Given the description of an element on the screen output the (x, y) to click on. 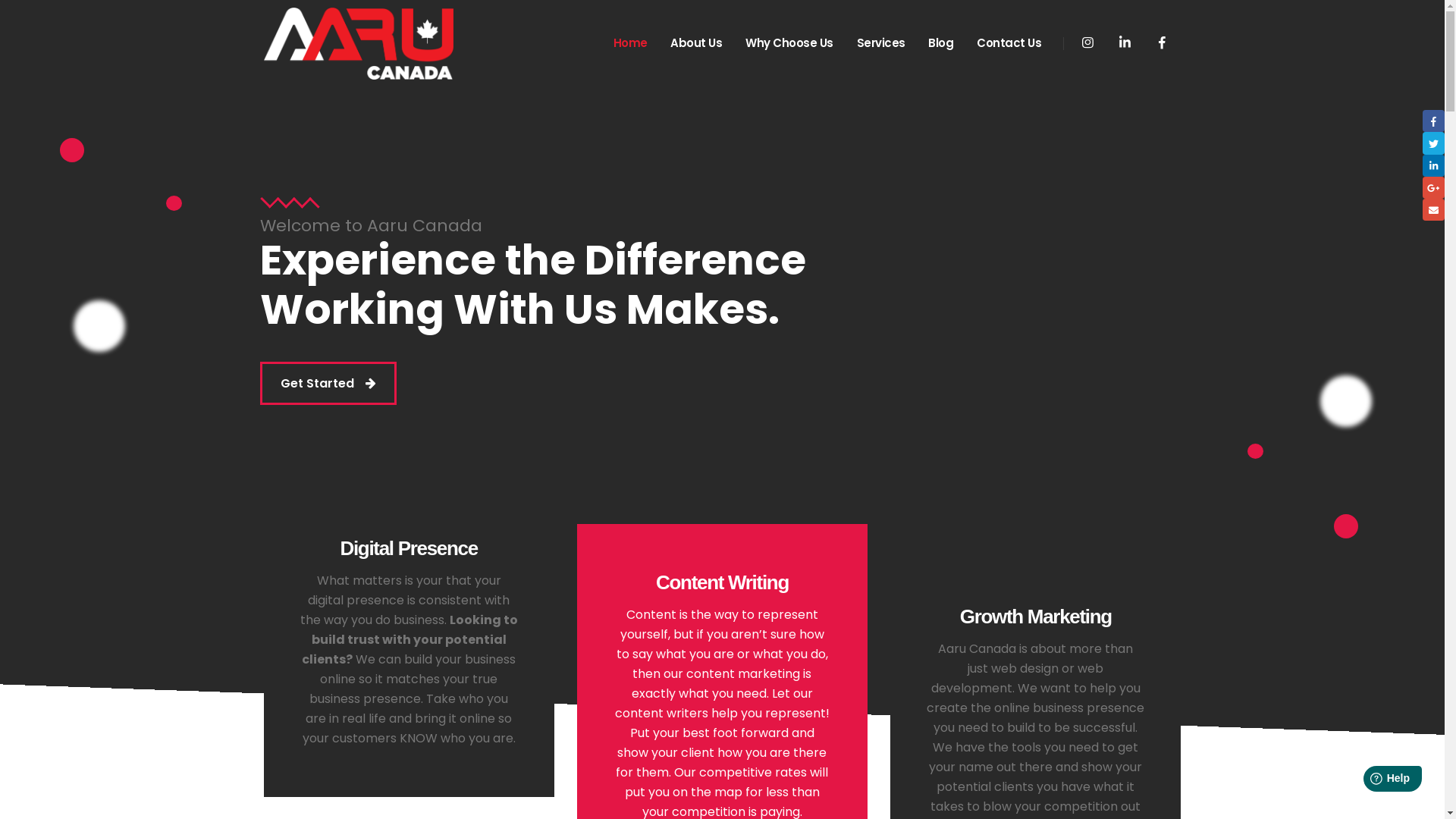
Home Element type: text (630, 42)
Instagram Element type: hover (1087, 42)
Blog Element type: text (940, 42)
Facebook Element type: text (1433, 120)
Contact Us Element type: text (1009, 42)
Twitter Element type: text (1433, 142)
Google + Element type: text (1433, 187)
LinkedIn Element type: text (1433, 165)
Services Element type: text (880, 42)
LinkedIn Element type: hover (1125, 42)
Email Element type: text (1433, 209)
Facebook Element type: hover (1161, 42)
Why Choose Us Element type: text (789, 42)
About Us Element type: text (696, 42)
